Given the description of an element on the screen output the (x, y) to click on. 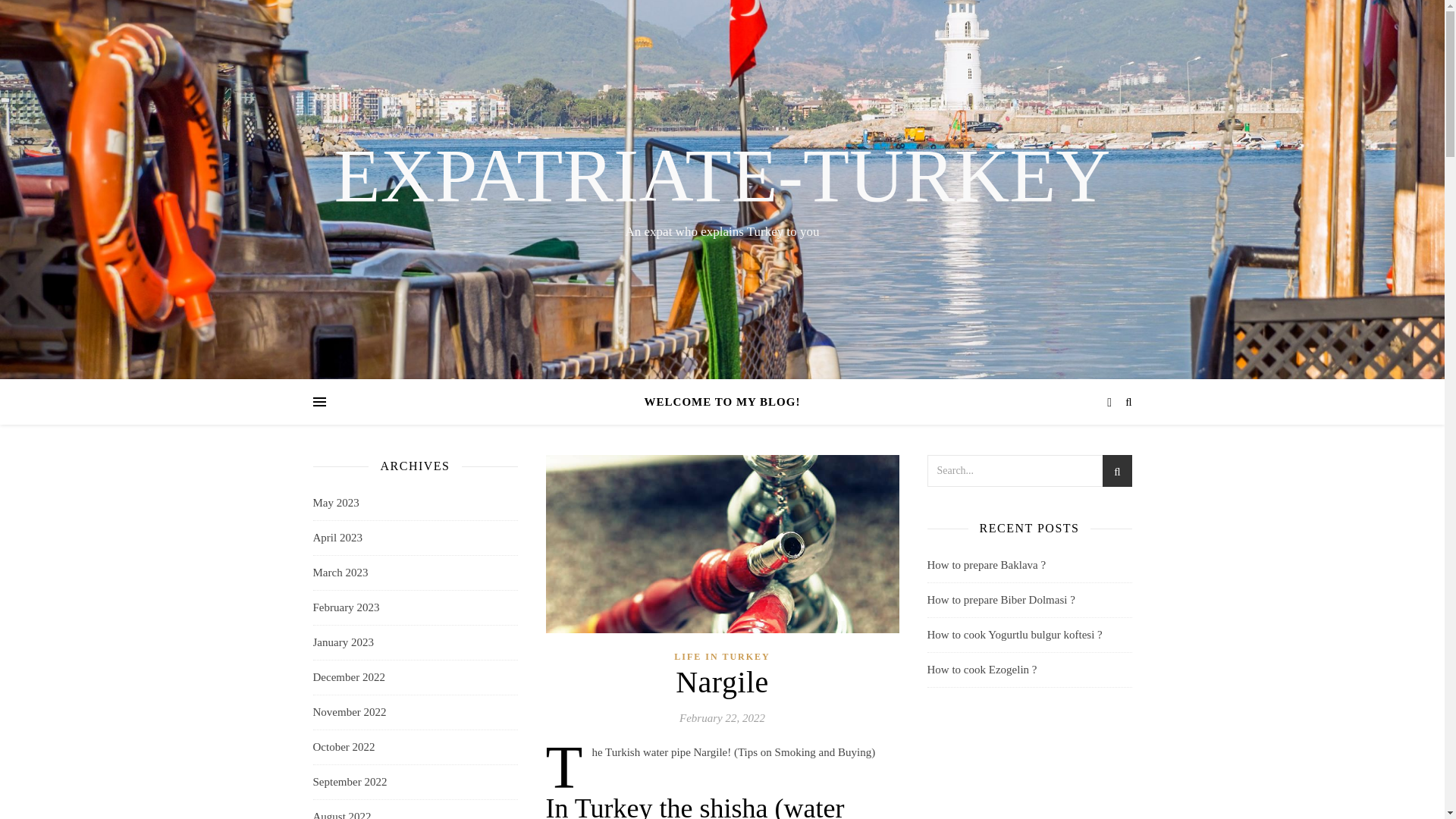
April 2023 (337, 537)
November 2022 (349, 712)
December 2022 (348, 677)
February 2023 (345, 607)
March 2023 (340, 572)
LIFE IN TURKEY (722, 656)
WELCOME TO MY BLOG! (722, 402)
September 2022 (350, 781)
August 2022 (342, 809)
May 2023 (335, 503)
October 2022 (343, 747)
January 2023 (342, 642)
st (1115, 473)
